Given the description of an element on the screen output the (x, y) to click on. 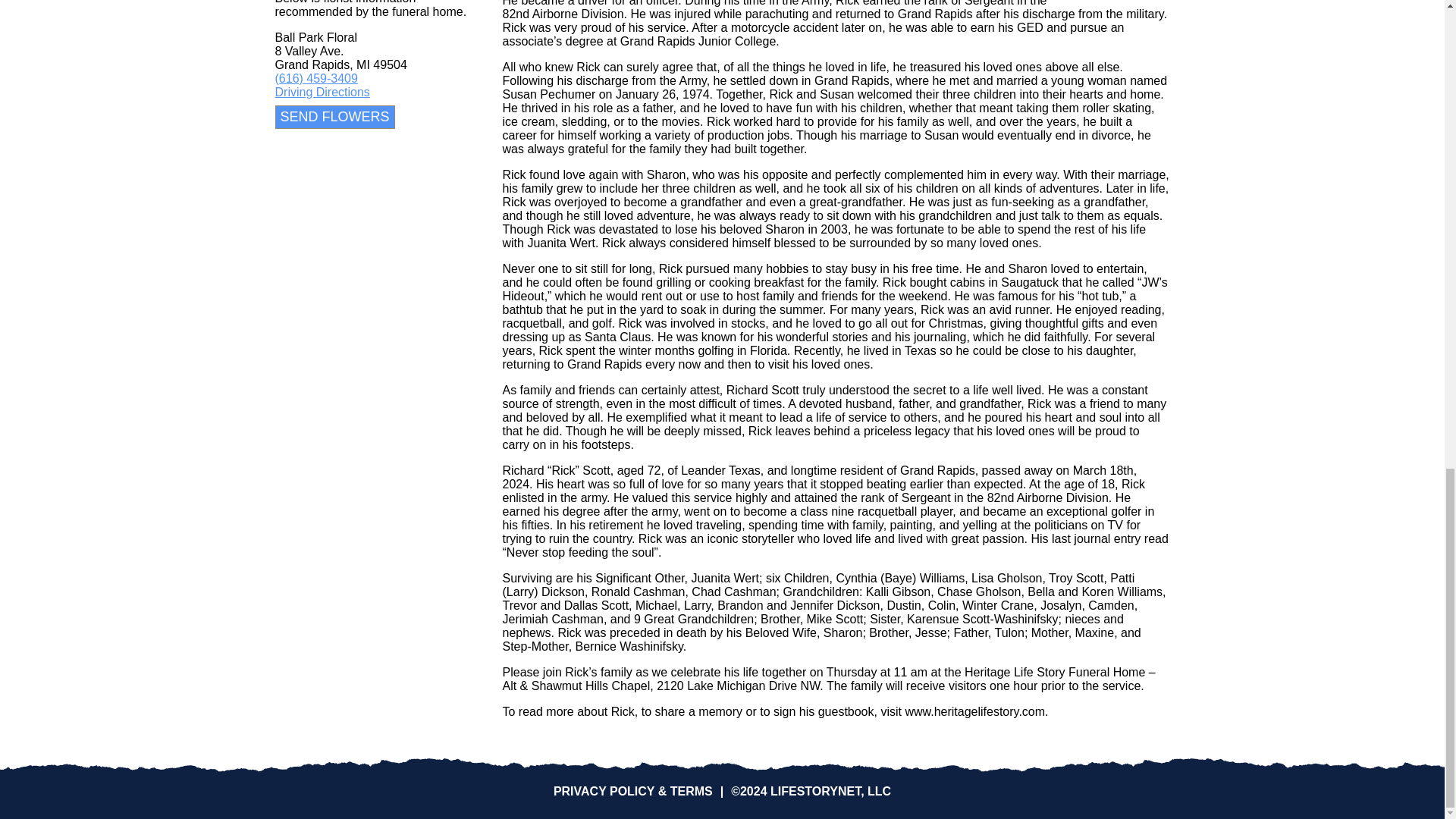
Driving Directions (322, 91)
Send Flowers (334, 116)
